Given the description of an element on the screen output the (x, y) to click on. 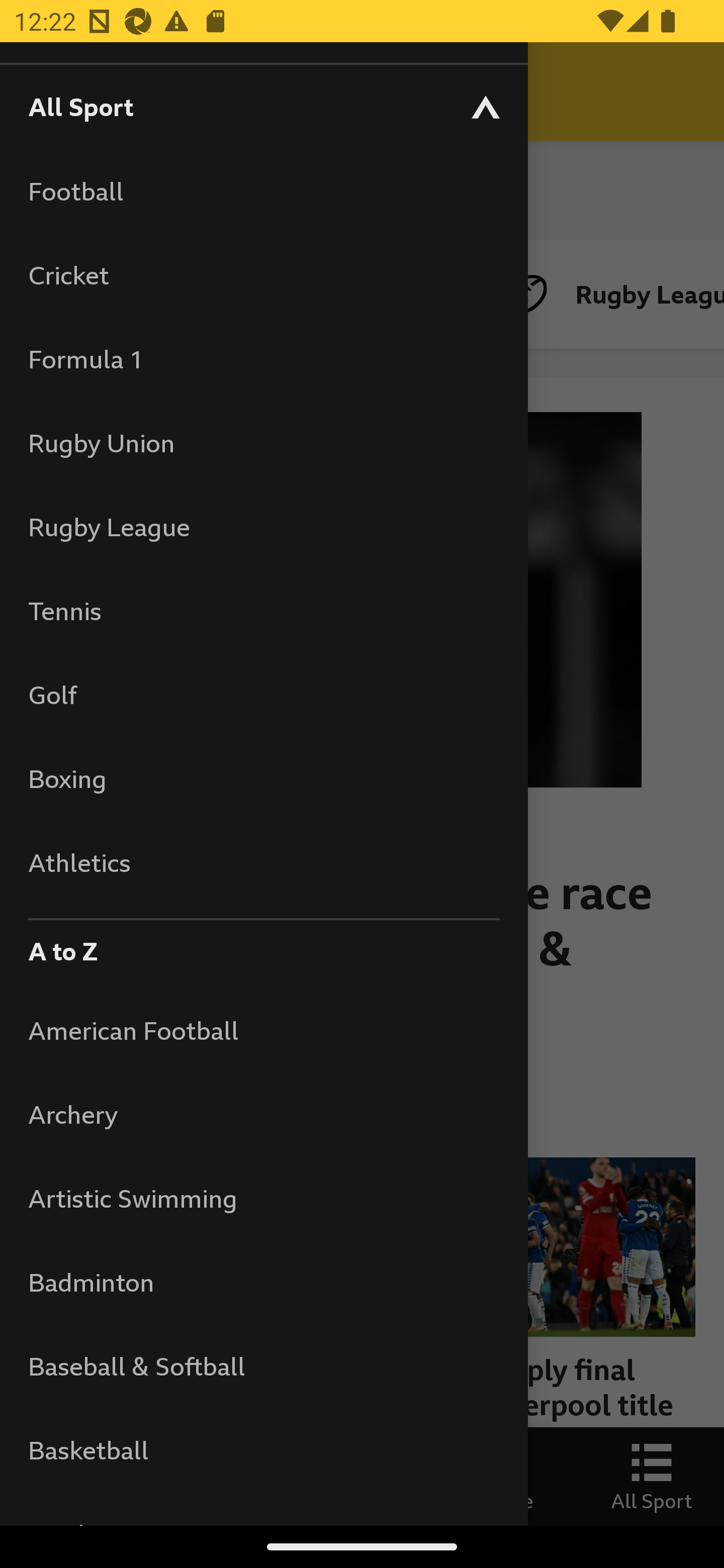
All Sport (263, 105)
Football (263, 190)
Cricket (263, 274)
Formula 1 (263, 358)
Rugby Union (263, 441)
Rugby League (263, 526)
Tennis (263, 609)
Golf (263, 694)
Boxing (263, 778)
Athletics (263, 862)
A to Z (263, 945)
American Football (263, 1029)
Archery (263, 1114)
Artistic Swimming (263, 1197)
Badminton (263, 1282)
Baseball & Softball (263, 1365)
Basketball (263, 1450)
